Given the description of an element on the screen output the (x, y) to click on. 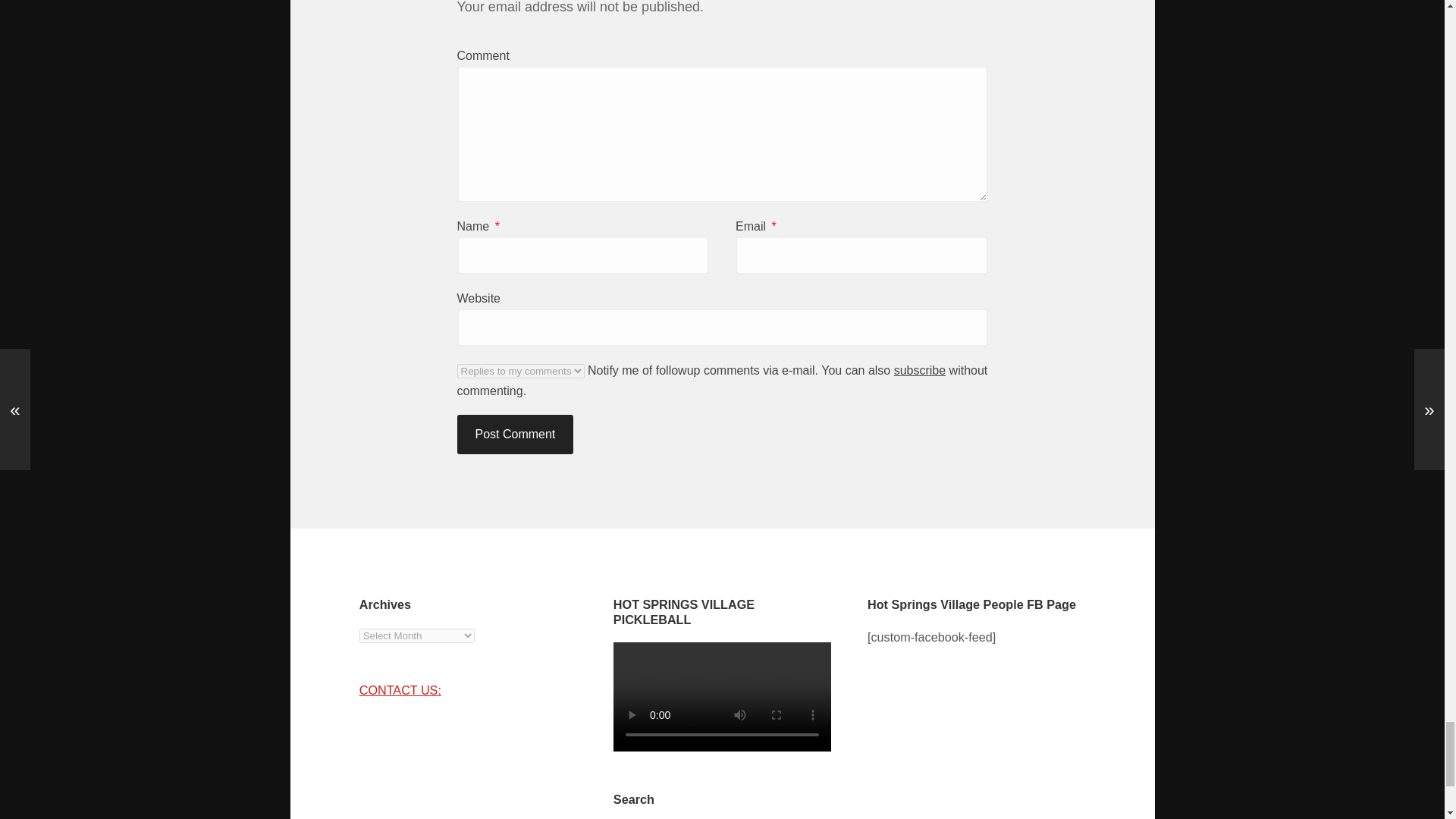
Post Comment (515, 434)
